Given the description of an element on the screen output the (x, y) to click on. 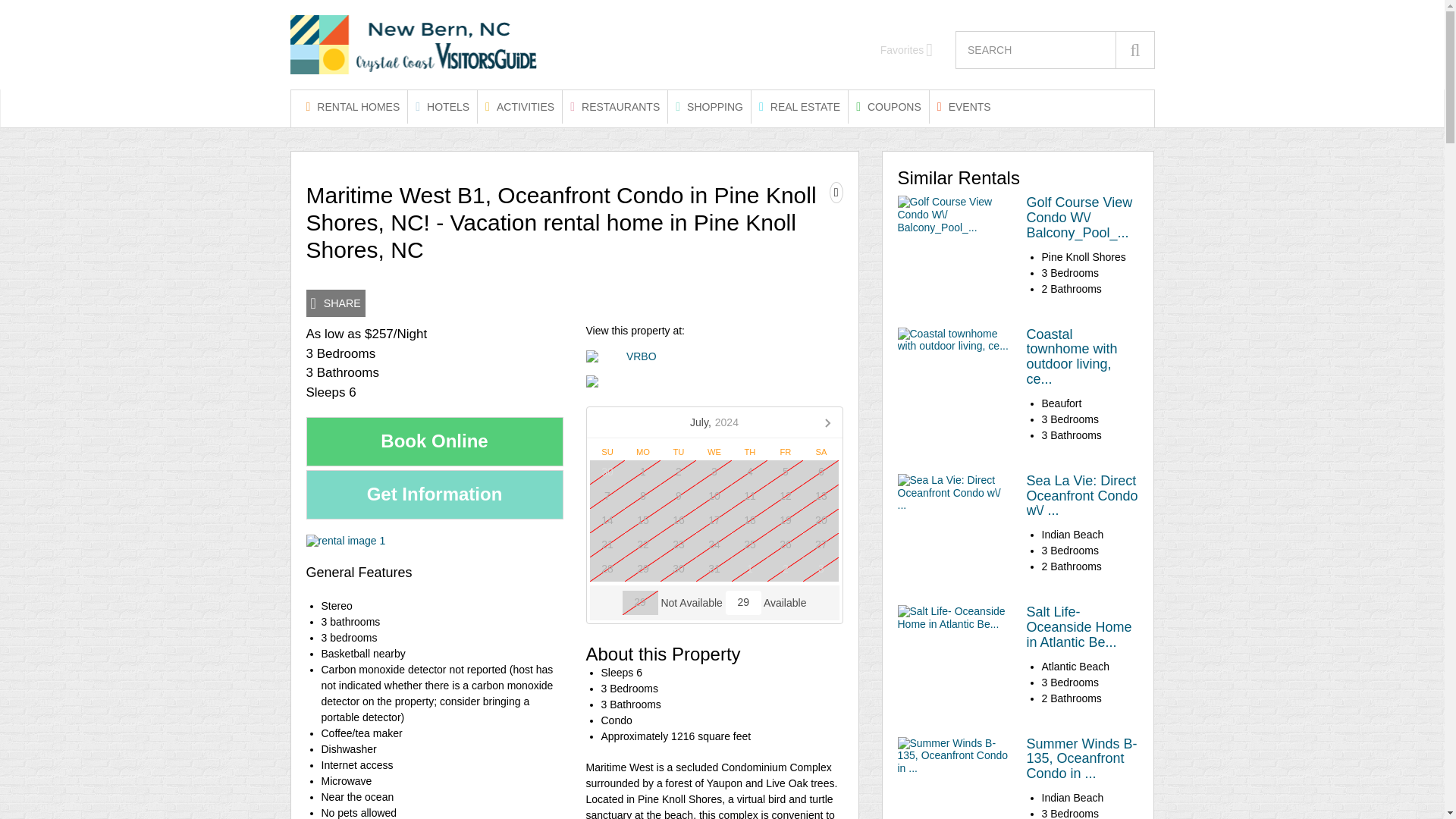
Book Online (434, 441)
SHARE (335, 302)
Get Information (434, 494)
EVENTS (964, 106)
HOTELS (442, 106)
RENTAL HOMES (352, 106)
ACTIVITIES (519, 106)
COUPONS (888, 106)
SHOPPING (709, 106)
RESTAURANTS (614, 106)
REAL ESTATE (799, 106)
Favorites (906, 49)
